Given the description of an element on the screen output the (x, y) to click on. 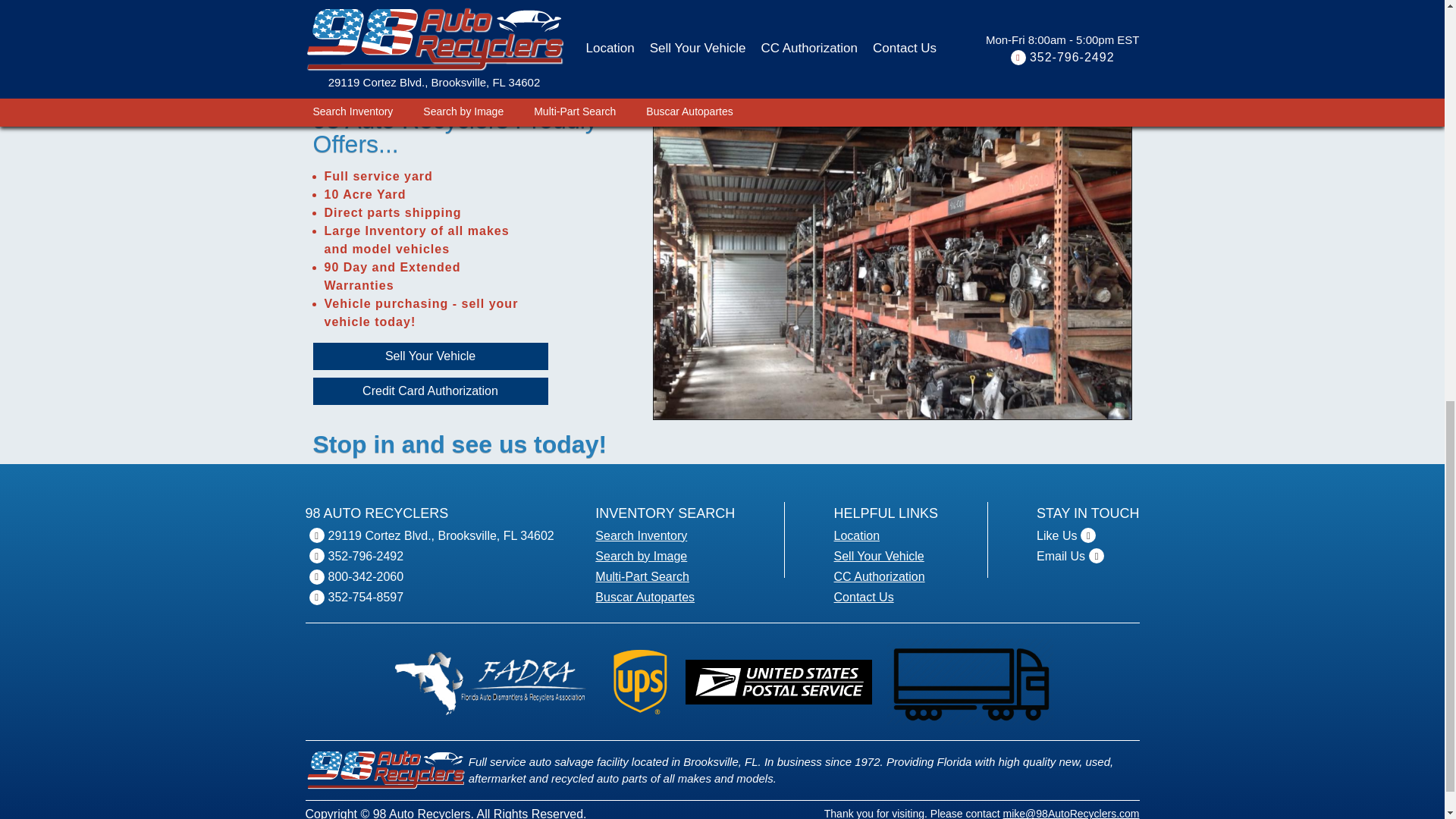
Buscar Autopartes (644, 597)
Search by Image (641, 556)
Contact Us (863, 597)
Location (857, 535)
CC Authorization (879, 576)
Email Us (1060, 556)
Search Inventory (641, 535)
Multi-Part Search (641, 576)
Sell Your Vehicle (474, 356)
352-796-2492 (365, 556)
